Given the description of an element on the screen output the (x, y) to click on. 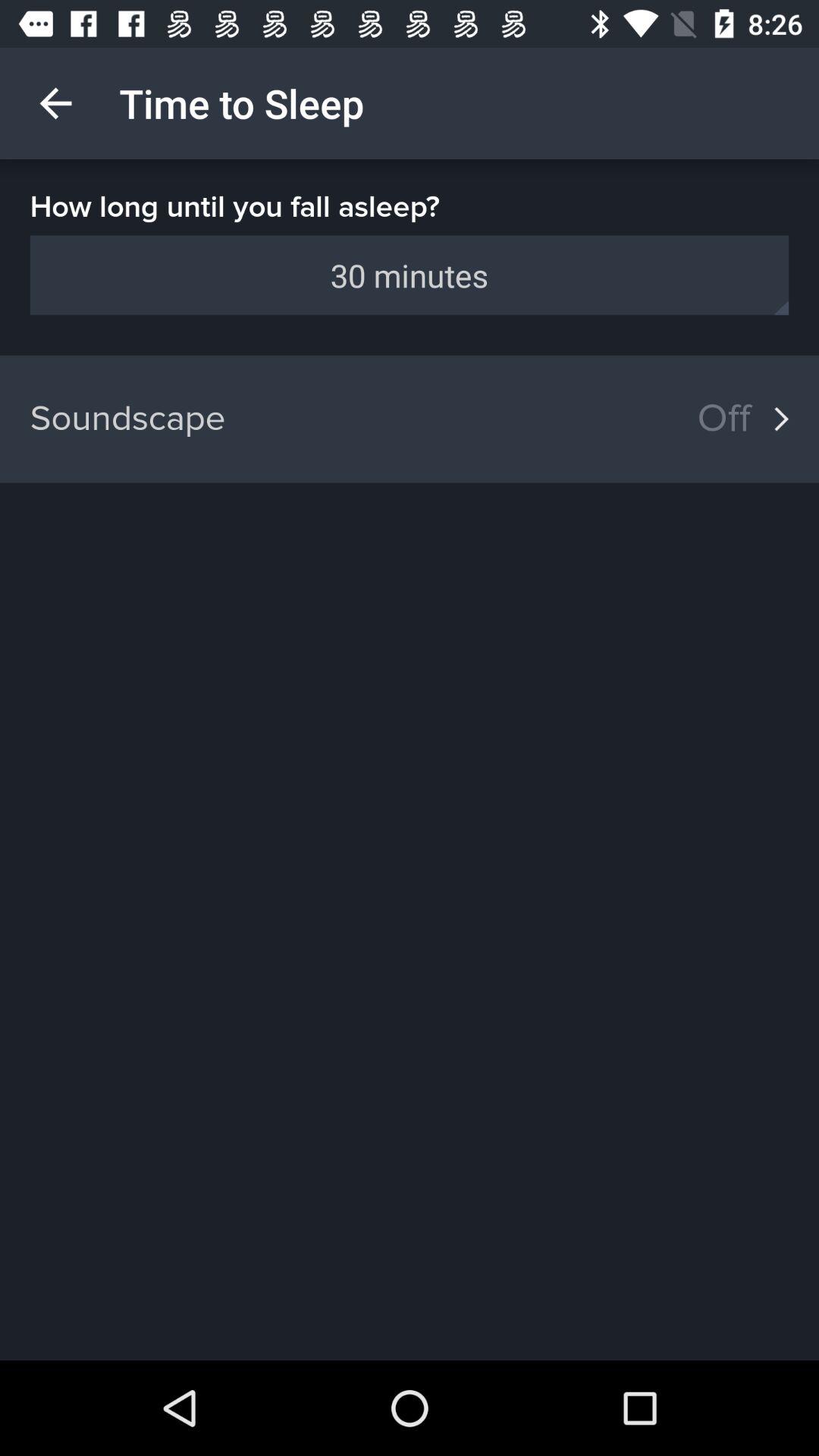
click the icon above the how long until icon (55, 103)
